Given the description of an element on the screen output the (x, y) to click on. 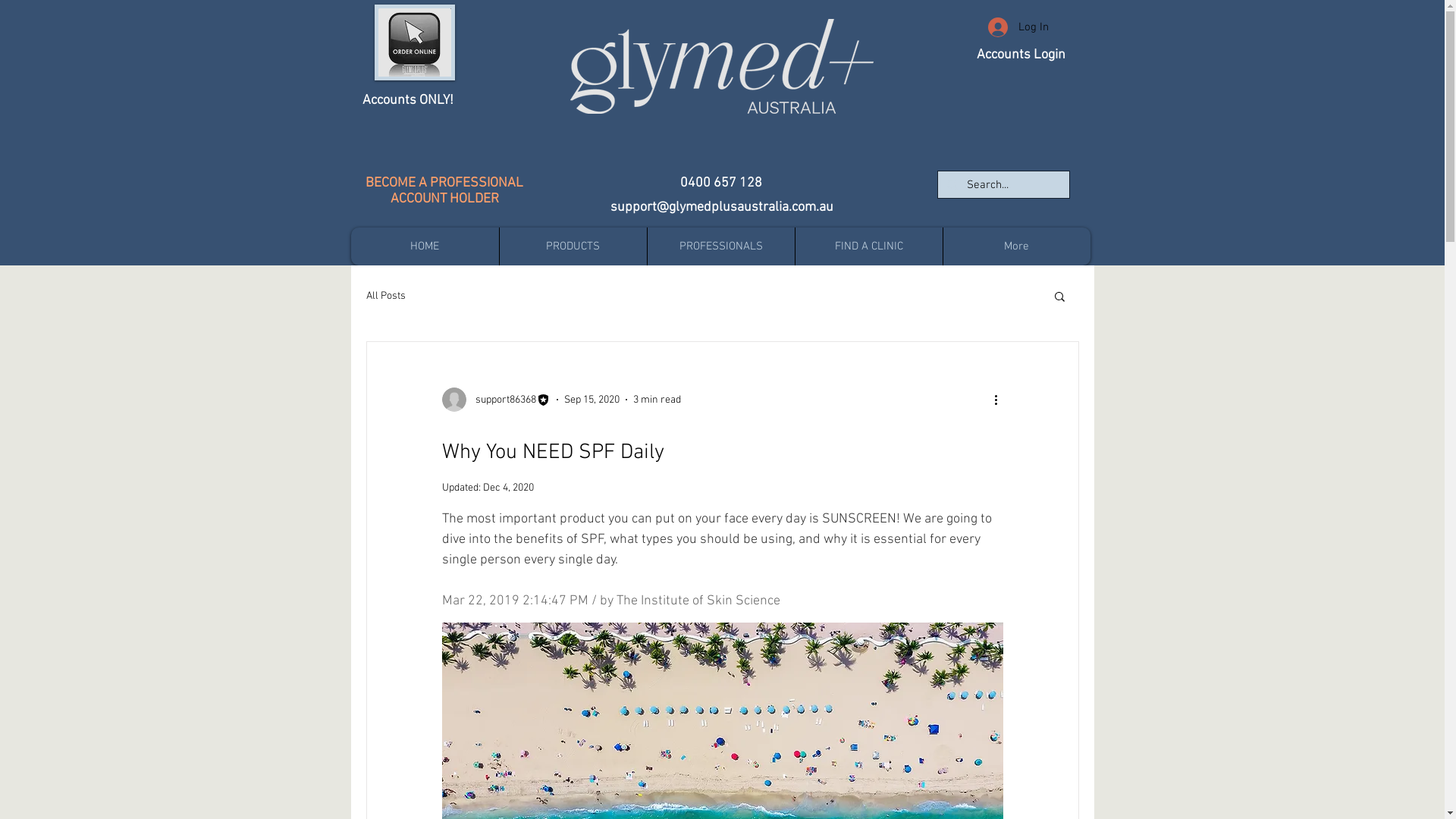
PROFESSIONAL
ACCOUNT HOLDER Element type: text (456, 191)
FIND A CLINIC Element type: text (868, 246)
All Posts Element type: text (384, 295)
Log In Element type: text (1017, 26)
support86368 Element type: text (495, 399)
0400 657 128 Element type: text (721, 183)
support@glymedplusaustralia.com.au Element type: text (720, 207)
BECOME A  Element type: text (397, 183)
PRODUCTS Element type: text (572, 246)
PROFESSIONALS Element type: text (719, 246)
HOME Element type: text (424, 246)
